Given the description of an element on the screen output the (x, y) to click on. 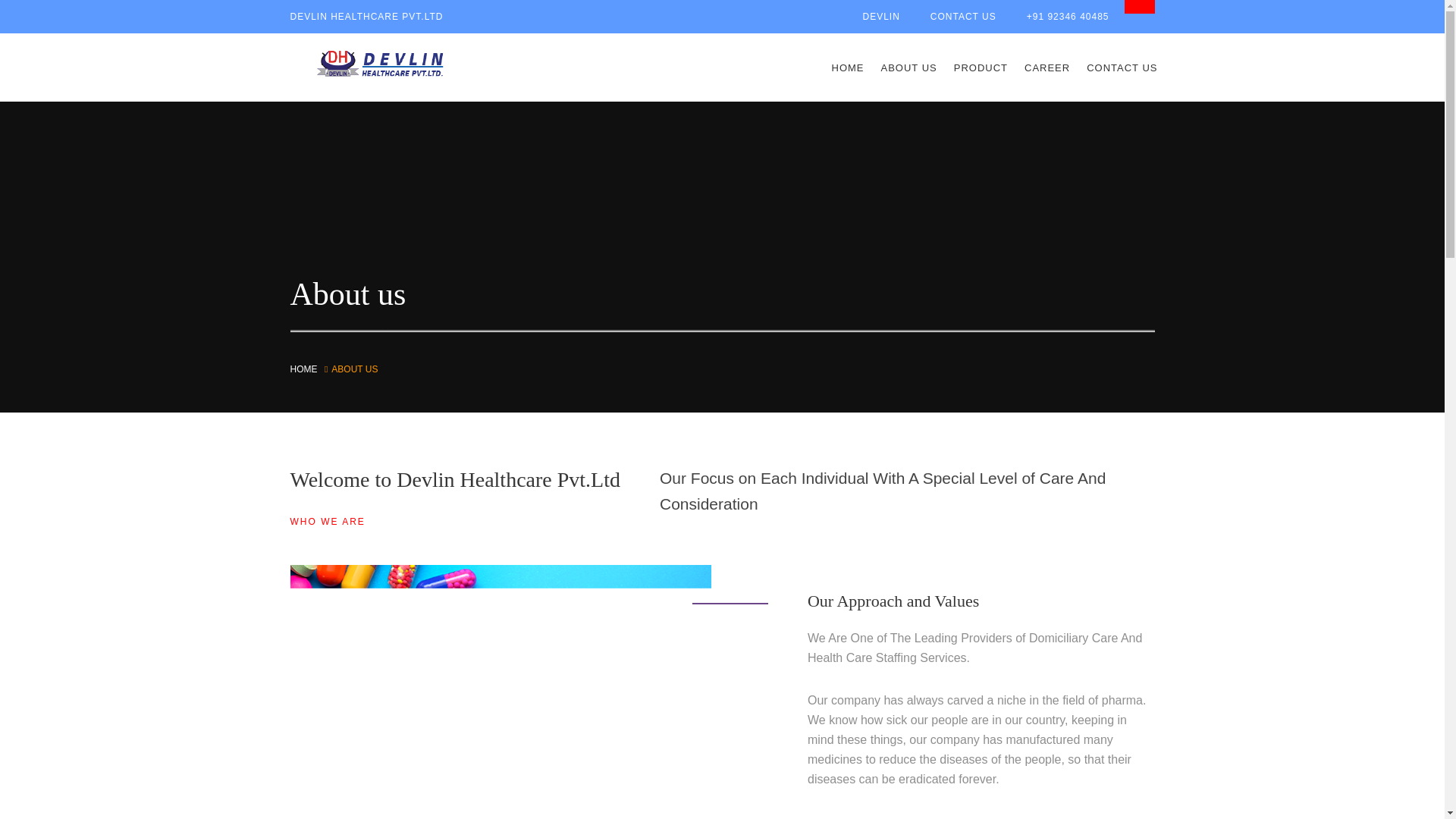
ABOUT US (908, 67)
CAREER (1047, 67)
HOME (303, 368)
CONTACT US (963, 16)
HOME (848, 67)
CONTACT US (1122, 67)
DEVLIN (880, 16)
PRODUCT (980, 67)
